Given the description of an element on the screen output the (x, y) to click on. 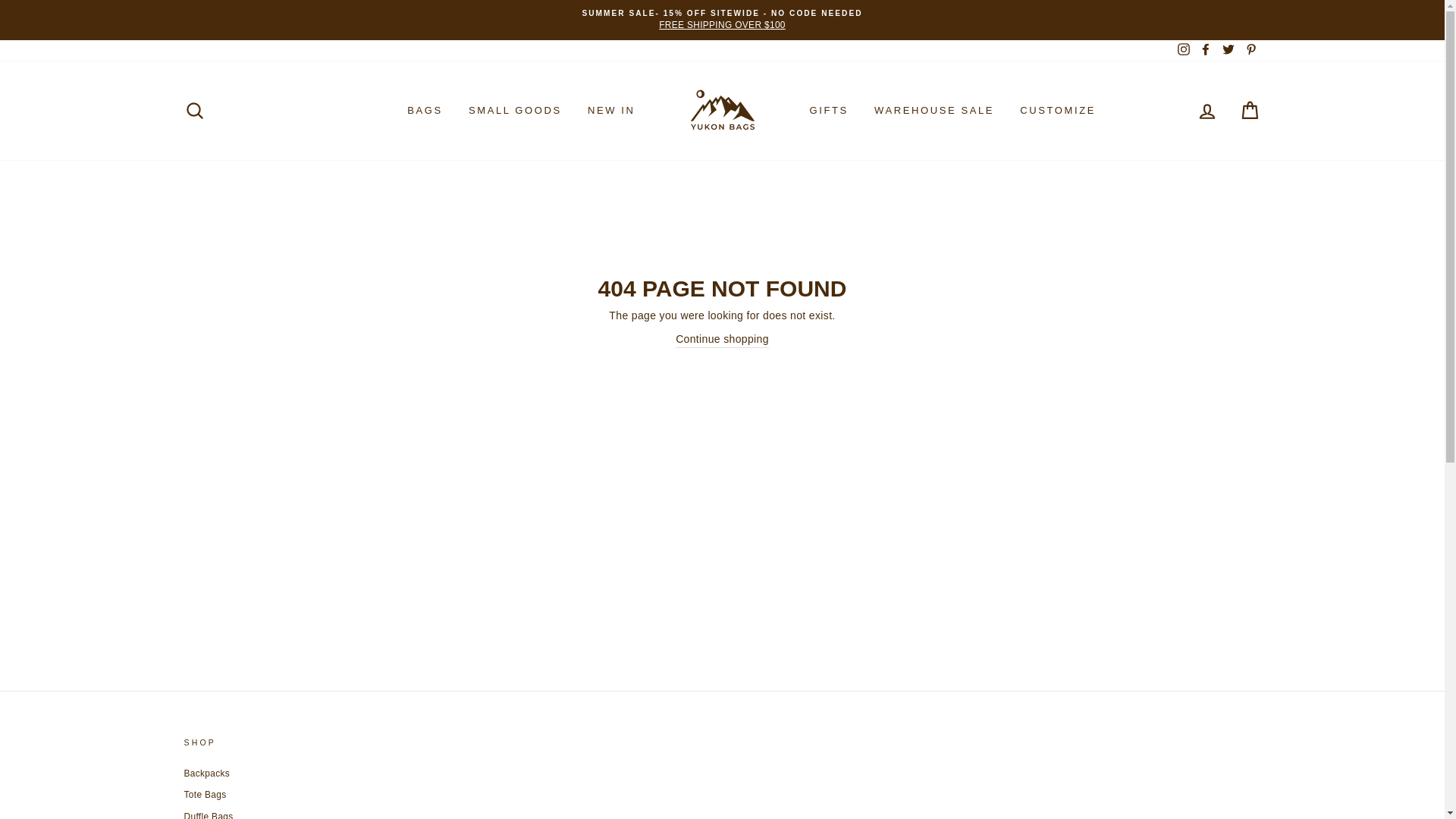
Yukon Bags on Instagram (1183, 50)
Yukon Bags on Facebook (1205, 50)
Yukon Bags on Twitter (1228, 50)
Yukon Bags on Pinterest (1250, 50)
